Given the description of an element on the screen output the (x, y) to click on. 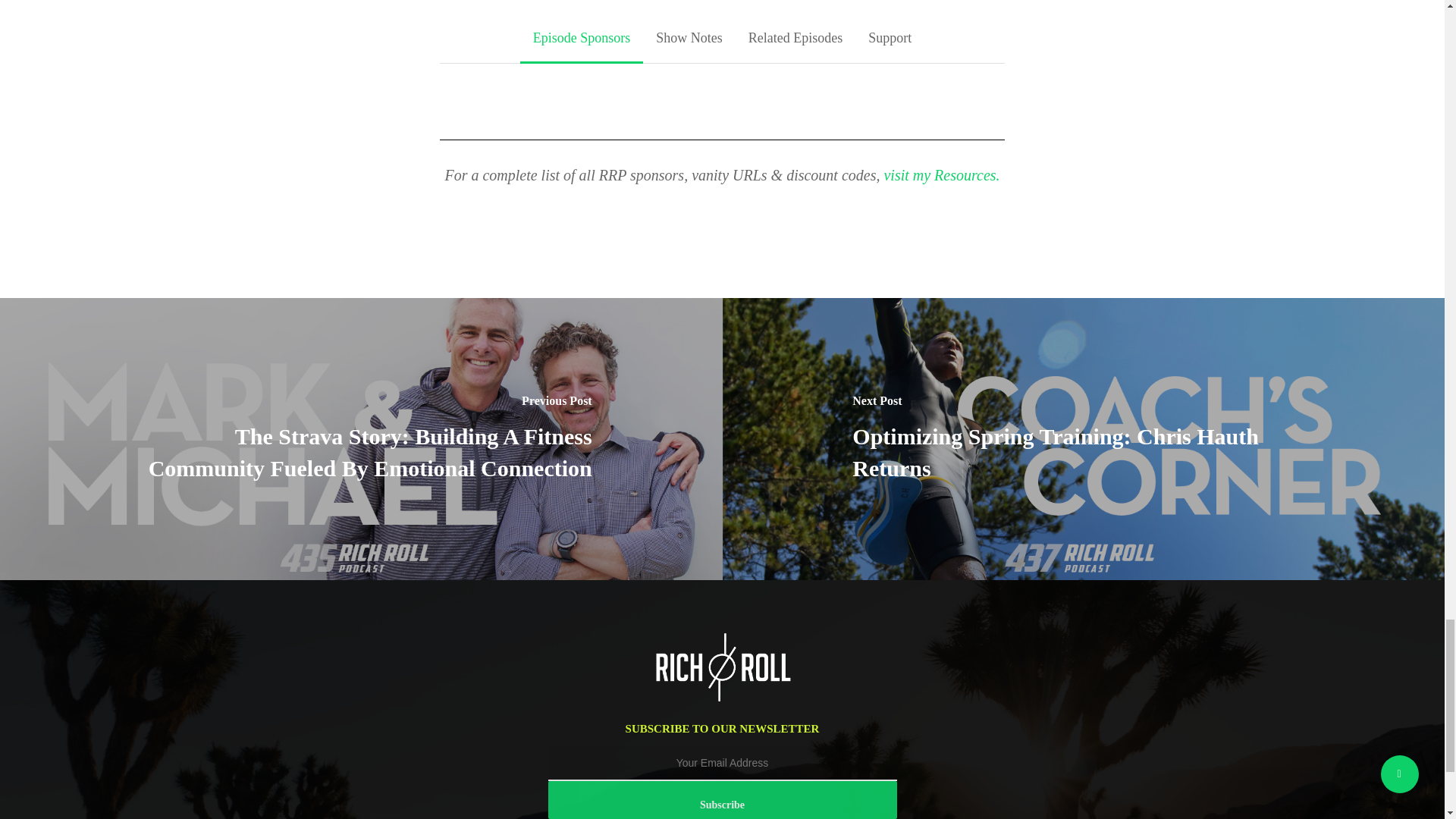
Subscribe (721, 800)
